Given the description of an element on the screen output the (x, y) to click on. 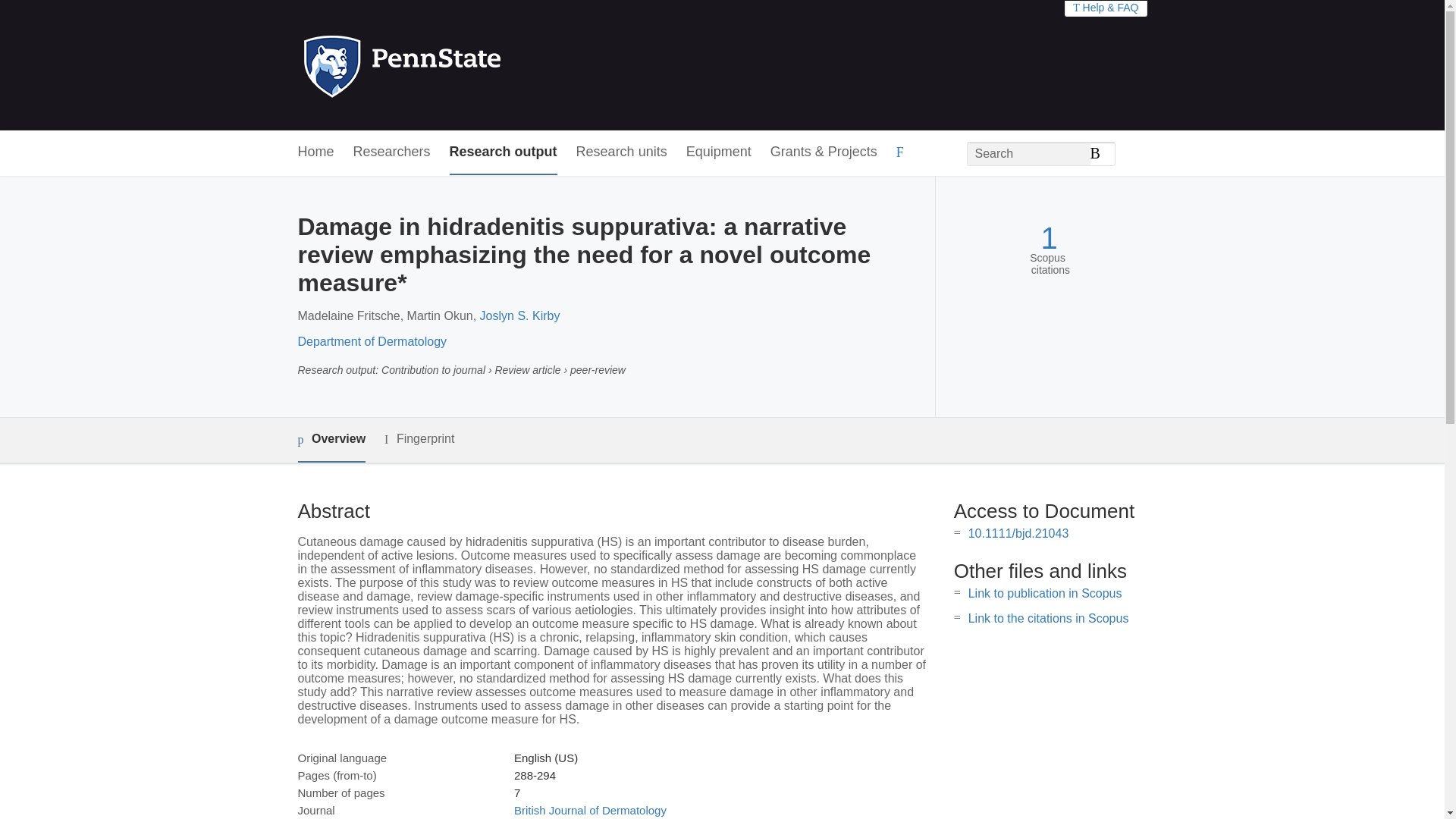
Link to the citations in Scopus (1048, 617)
Researchers (391, 152)
Department of Dermatology (371, 341)
Joslyn S. Kirby (520, 315)
Fingerprint (419, 439)
Equipment (718, 152)
Research output (503, 152)
Research units (621, 152)
Penn State Home (467, 65)
Overview (331, 439)
British Journal of Dermatology (589, 809)
Link to publication in Scopus (1045, 593)
